Given the description of an element on the screen output the (x, y) to click on. 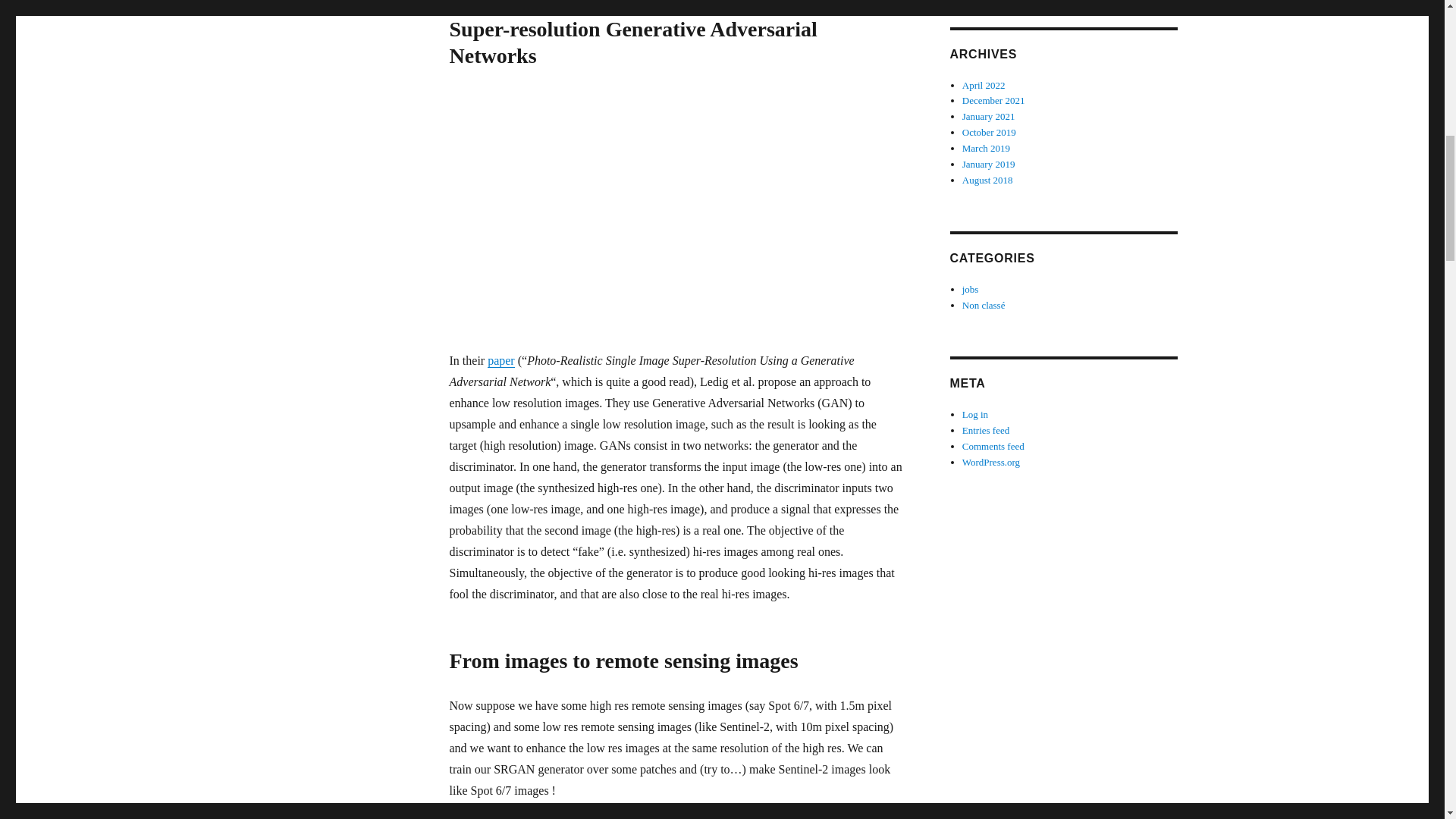
October 2019 (989, 132)
January 2019 (988, 163)
January 2021 (988, 116)
paper (501, 359)
December 2021 (993, 100)
August 2018 (987, 179)
April 2022 (984, 84)
March 2019 (986, 147)
